Given the description of an element on the screen output the (x, y) to click on. 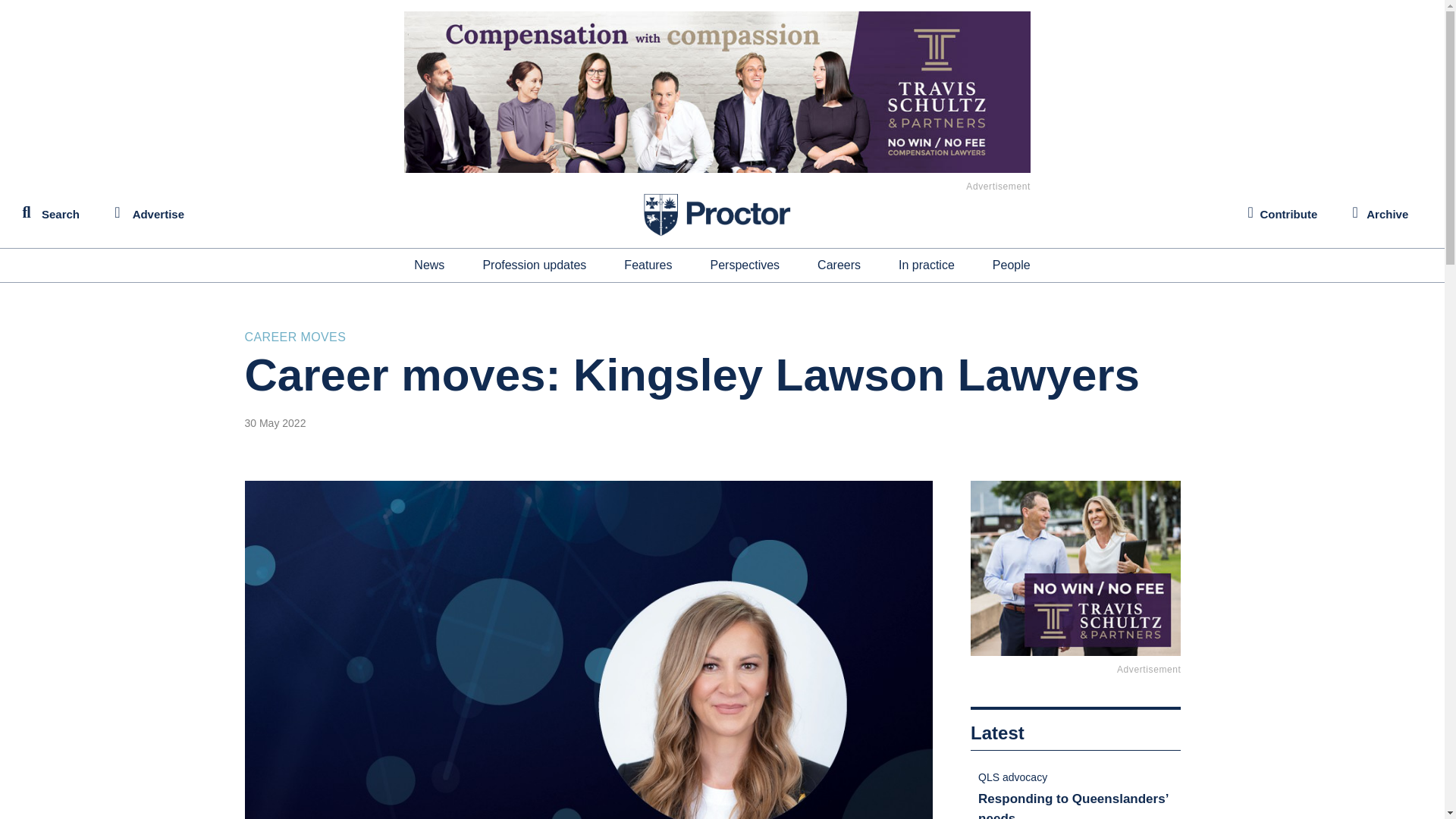
Profession updates (534, 264)
Features (647, 264)
News (428, 264)
Perspectives (745, 264)
In practice (926, 264)
People (1011, 264)
Careers (838, 264)
